Given the description of an element on the screen output the (x, y) to click on. 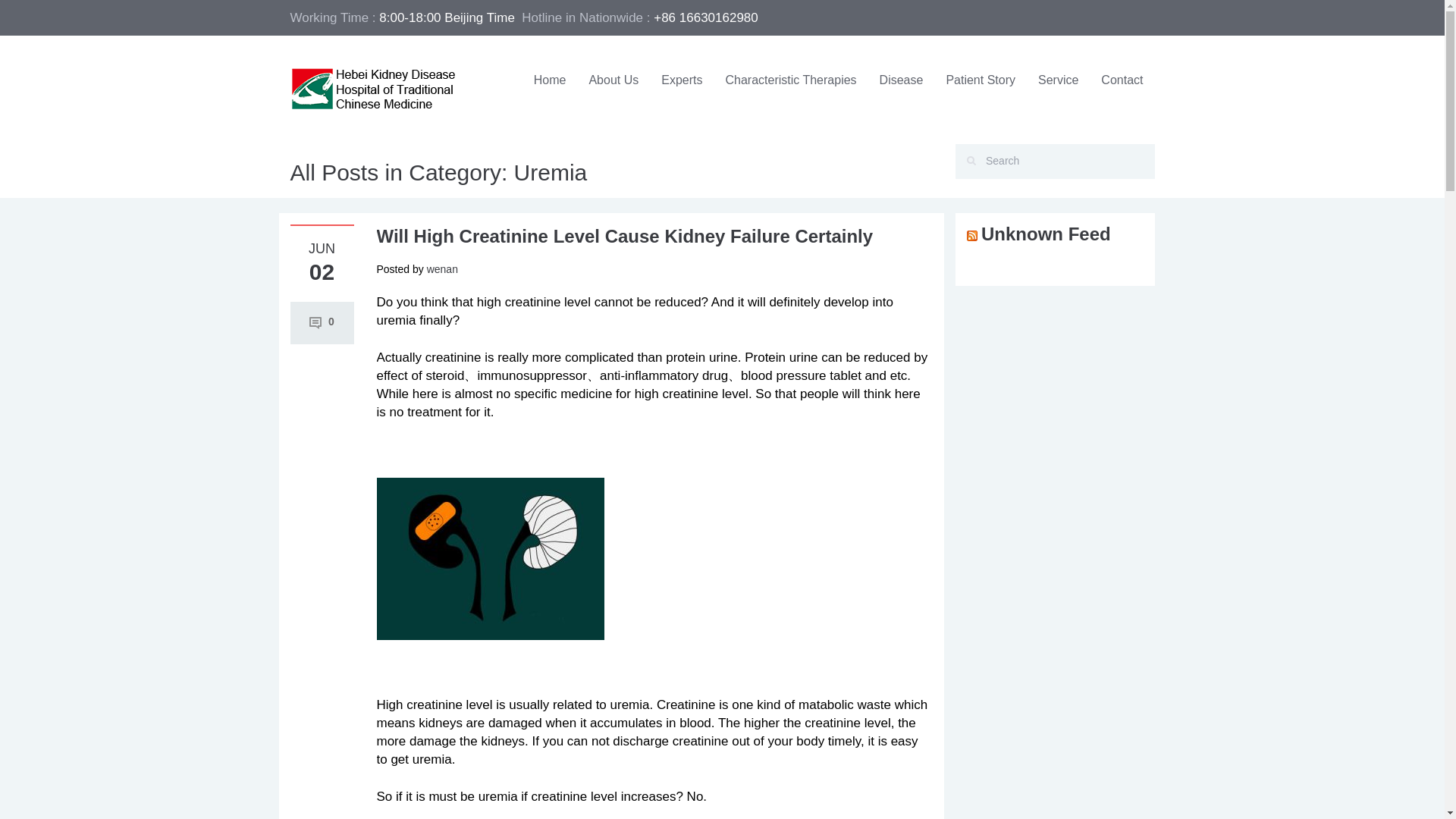
Will High Creatinine Level Cause Kidney Failure Certainly (623, 236)
Characteristic Therapies (790, 80)
Service (1057, 80)
About Us (612, 80)
View all posts by wenan (442, 268)
wenan (442, 268)
Disease (900, 80)
Unknown Feed (1045, 233)
Experts (681, 80)
Home (550, 80)
0 (321, 321)
Patient Story (980, 80)
Contact (1121, 80)
